Given the description of an element on the screen output the (x, y) to click on. 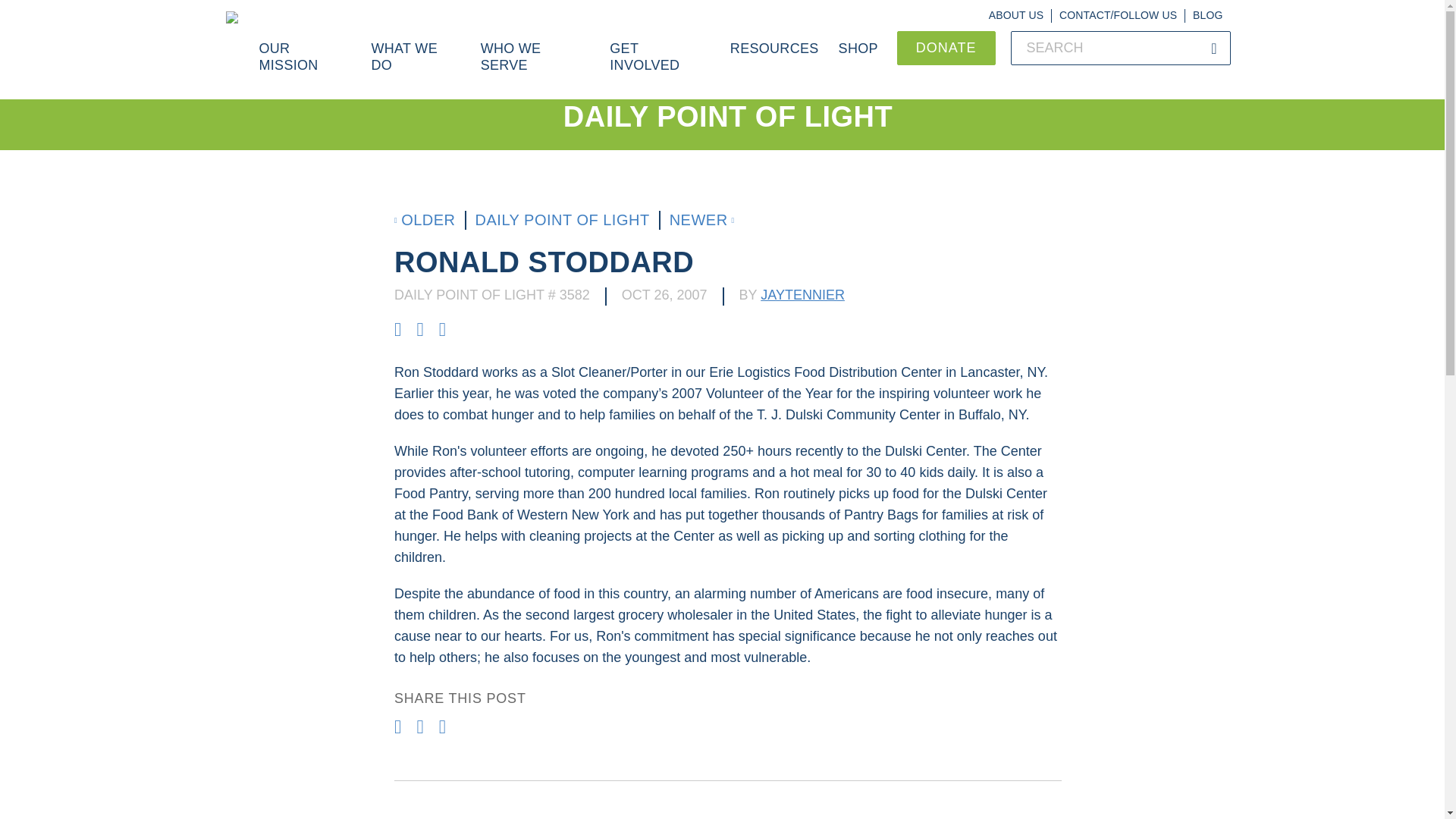
BLOG (1207, 15)
OUR MISSION (304, 65)
ABOUT US (1016, 15)
WHO WE SERVE (534, 65)
WHAT WE DO (415, 65)
